Given the description of an element on the screen output the (x, y) to click on. 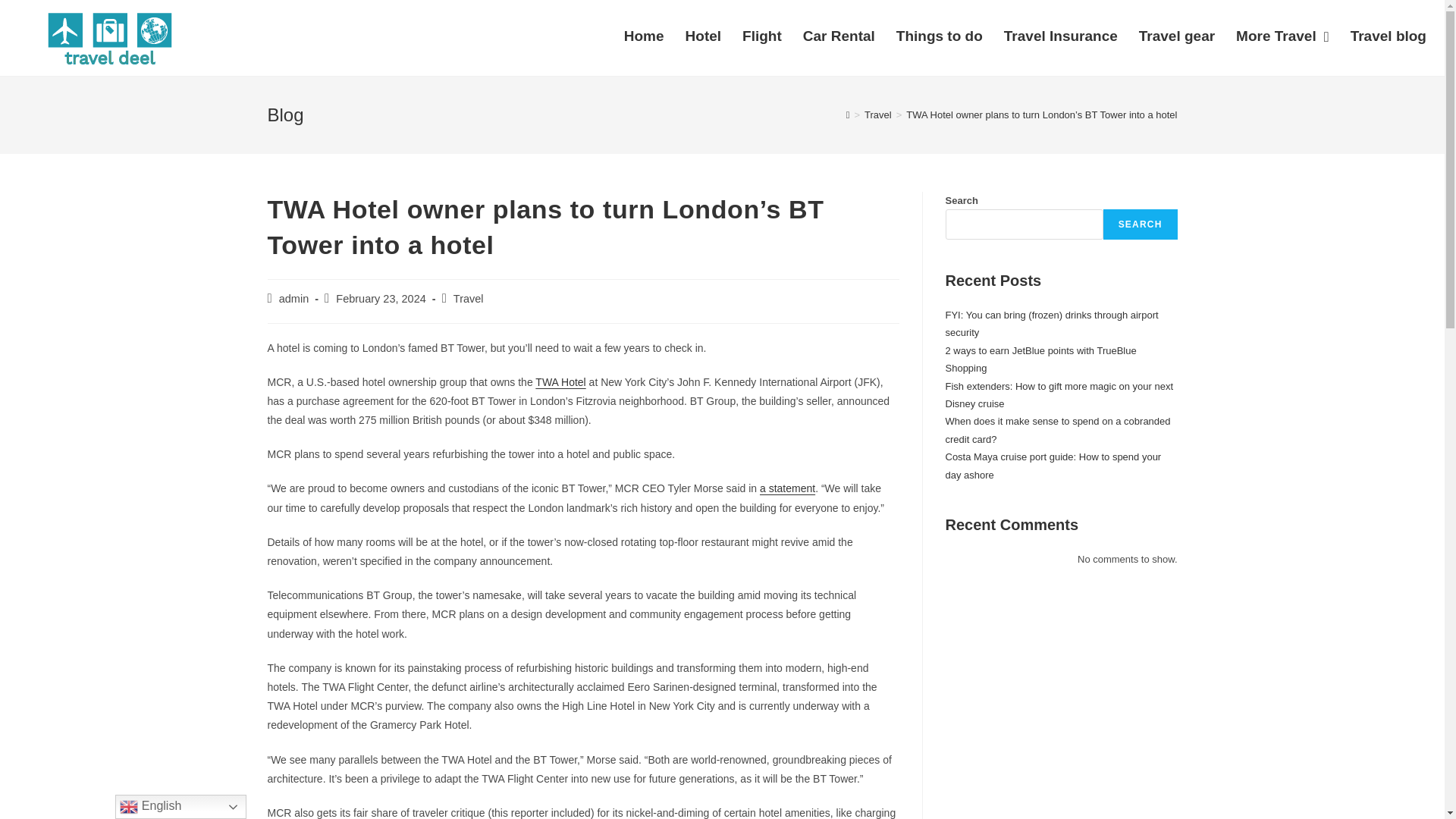
admin (293, 298)
TWA Hotel (560, 381)
Things to do (938, 36)
Hotel (703, 36)
Travel blog (1388, 36)
Posts by admin (293, 298)
More Travel (1282, 36)
Car Rental (838, 36)
Flight (762, 36)
Travel gear (1176, 36)
